Given the description of an element on the screen output the (x, y) to click on. 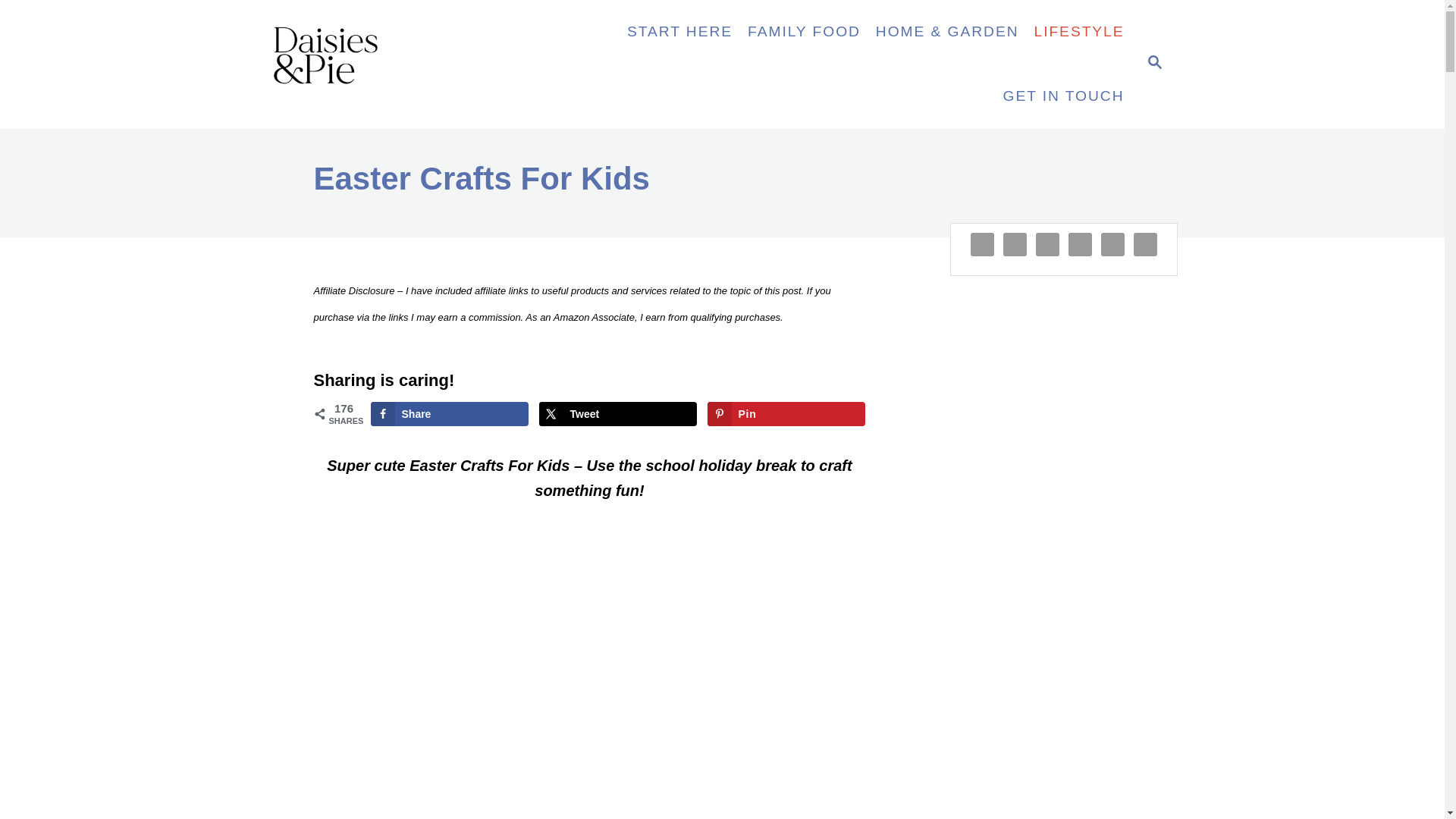
LIFESTYLE (1079, 31)
Save to Pinterest (785, 413)
SEARCH (1153, 64)
Share on Facebook (448, 413)
START HERE (679, 31)
Share on X (617, 413)
FAMILY FOOD (803, 31)
